Given the description of an element on the screen output the (x, y) to click on. 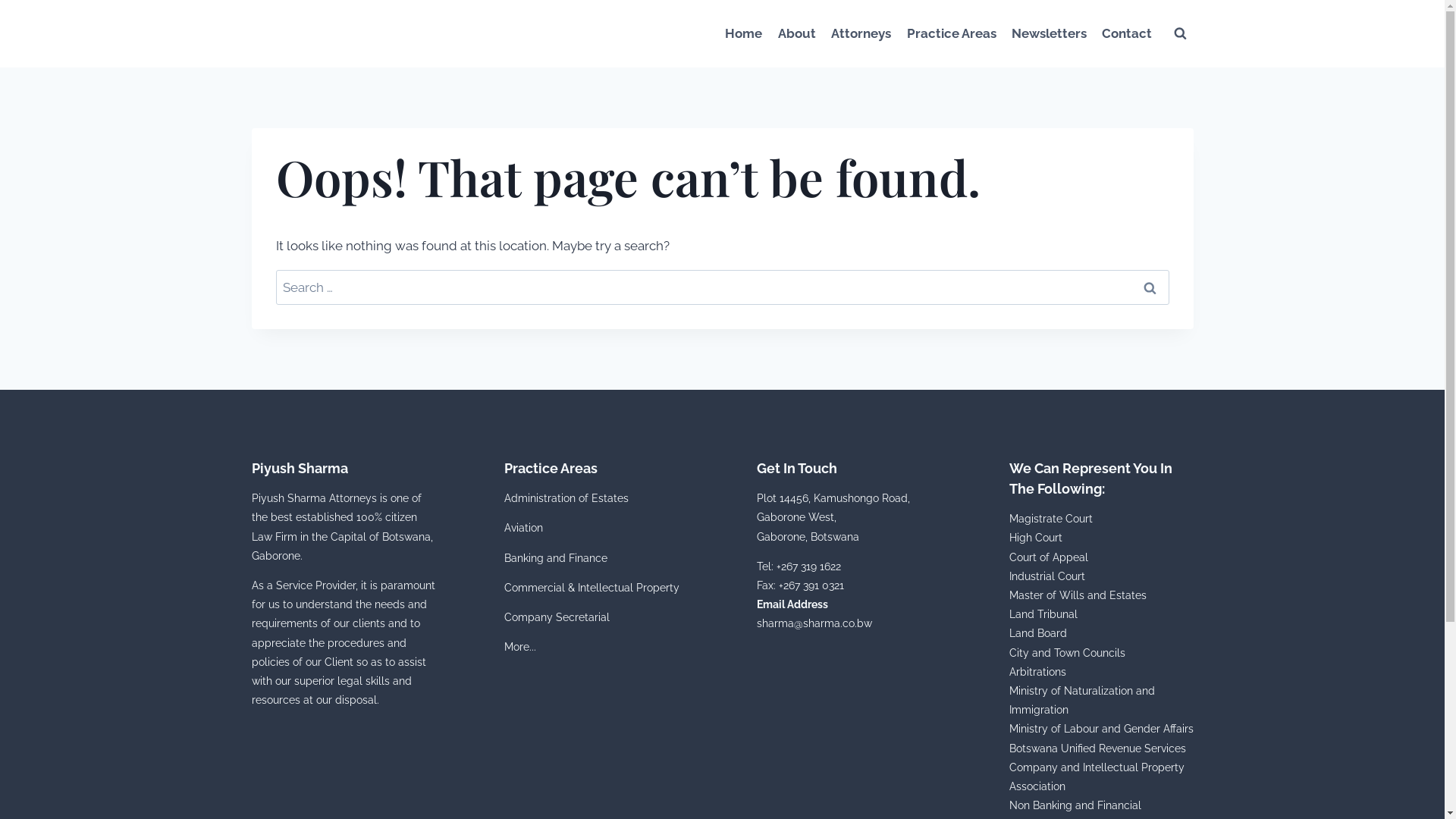
sharma@sharma.co.bw Element type: text (814, 623)
Aviation Element type: text (522, 527)
Banking and Finance Element type: text (554, 558)
Practice Areas Element type: text (950, 33)
Search Element type: text (1150, 286)
Attorneys Element type: text (860, 33)
More... Element type: text (519, 646)
About Element type: text (796, 33)
Company Secretarial Element type: text (555, 617)
Contact Element type: text (1126, 33)
Home Element type: text (743, 33)
Newsletters Element type: text (1049, 33)
Commercial & Intellectual Property Element type: text (590, 587)
Administration of Estates Element type: text (565, 498)
